Given the description of an element on the screen output the (x, y) to click on. 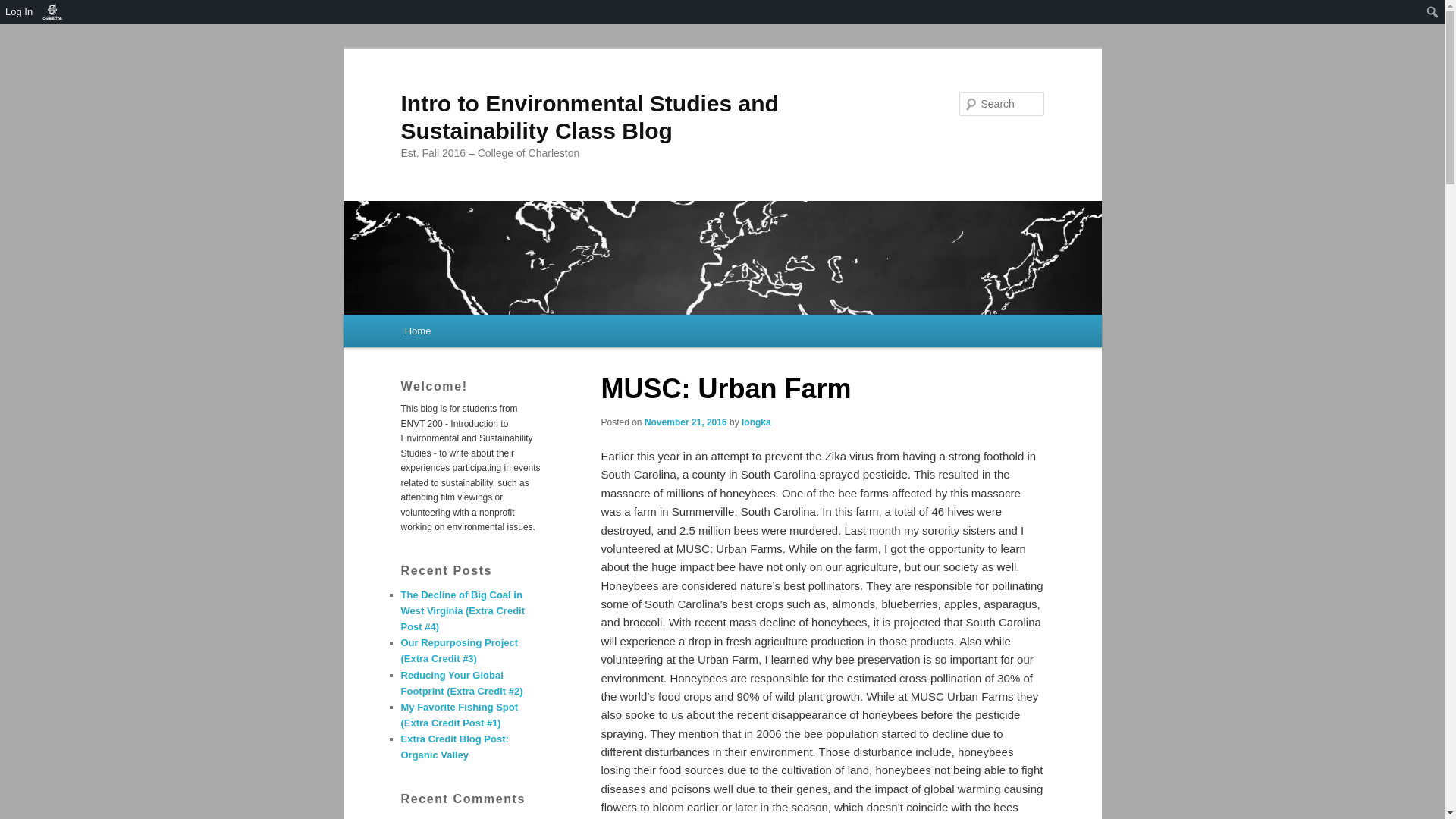
Extra Credit Blog Post: Organic Valley (454, 746)
Skip to primary content (472, 333)
View all posts by longka (756, 421)
longka (756, 421)
November 21, 2016 (685, 421)
Search (24, 8)
Home (417, 330)
Greenwashing at Aldi (466, 817)
Intro to Environmental Studies and Sustainability Class Blog (588, 116)
1:27 am (685, 421)
Intro to Environmental Studies and Sustainability Class Blog (588, 116)
